Given the description of an element on the screen output the (x, y) to click on. 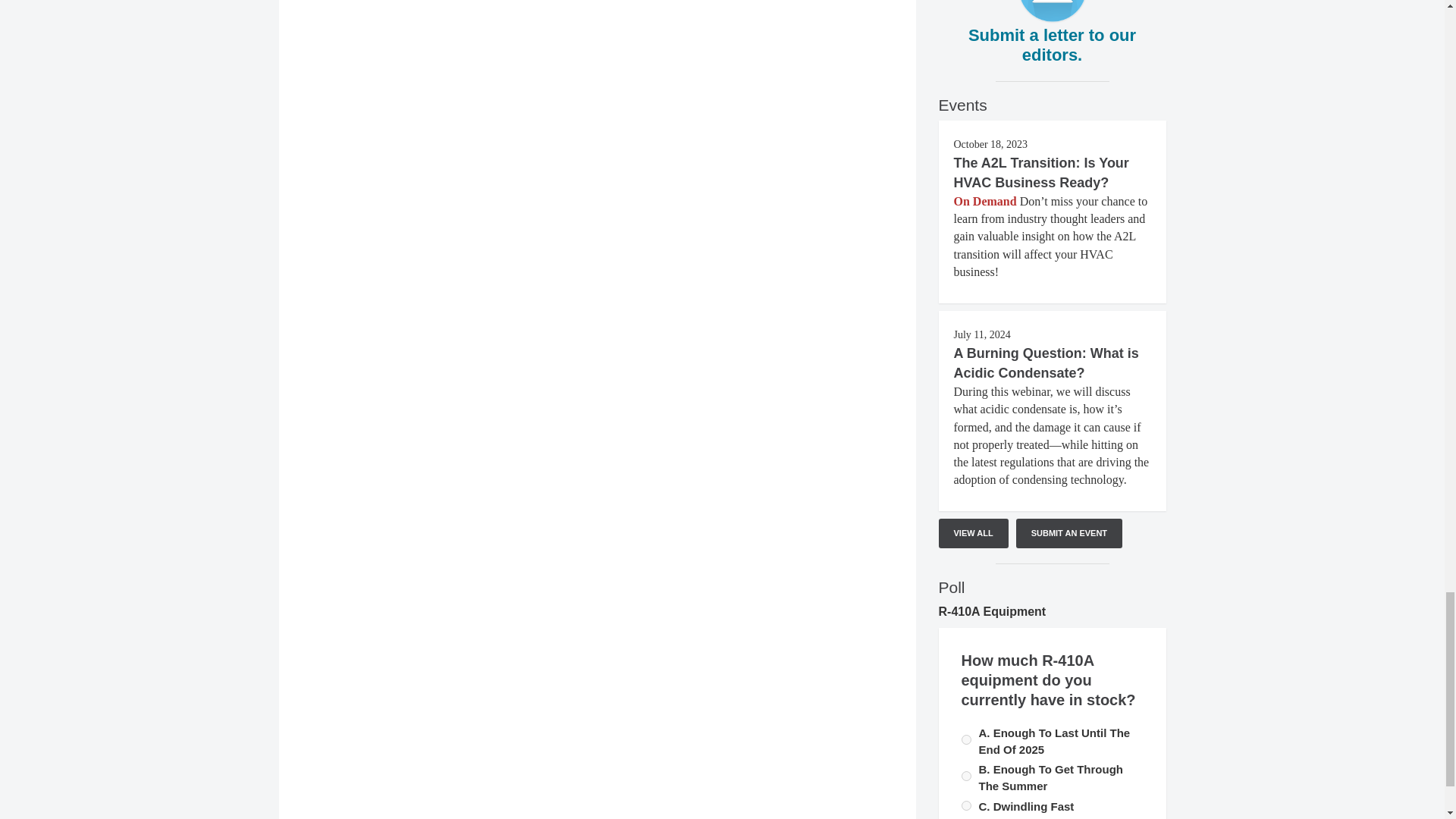
596 (965, 776)
597 (965, 739)
598 (965, 805)
